Given the description of an element on the screen output the (x, y) to click on. 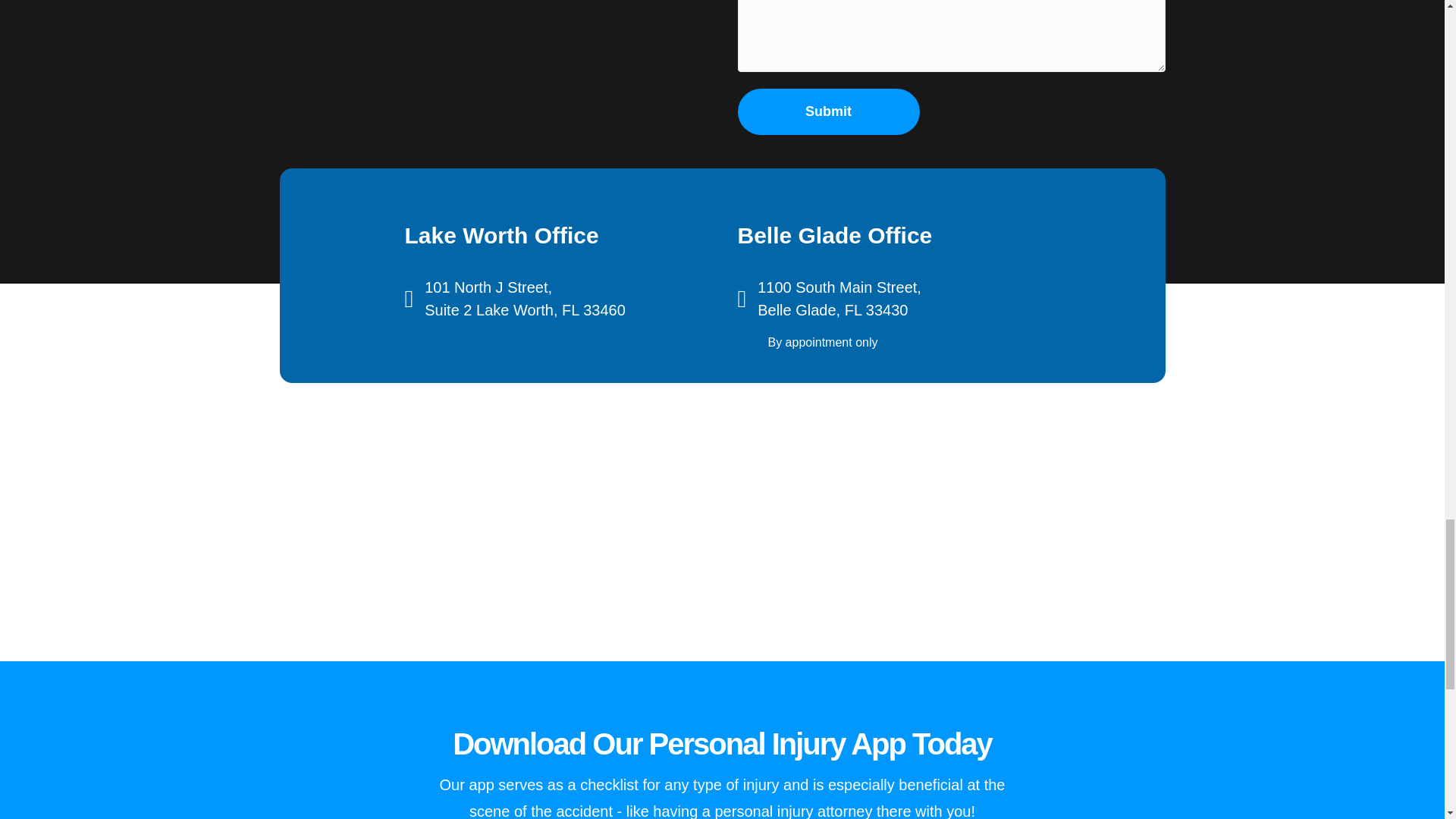
Submit (827, 111)
